Given the description of an element on the screen output the (x, y) to click on. 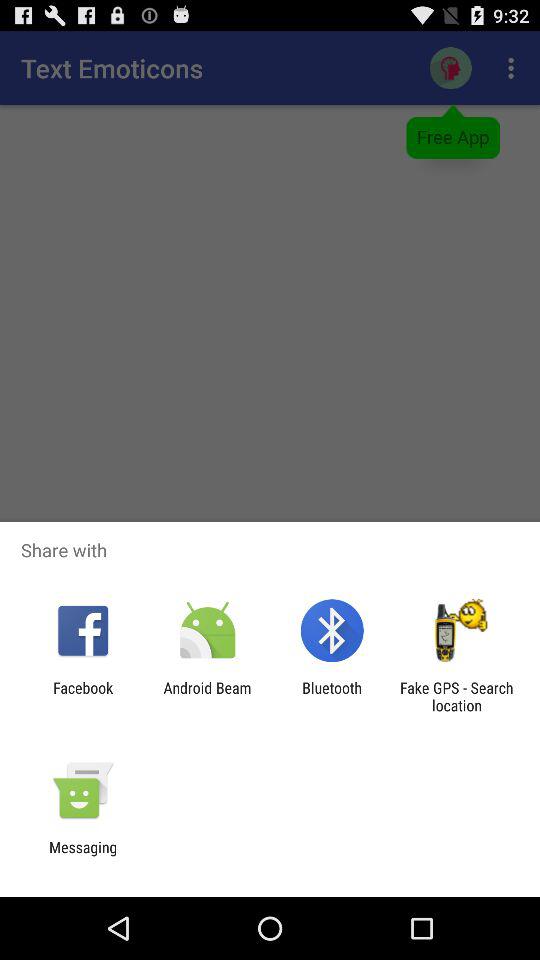
launch the item at the bottom right corner (456, 696)
